Given the description of an element on the screen output the (x, y) to click on. 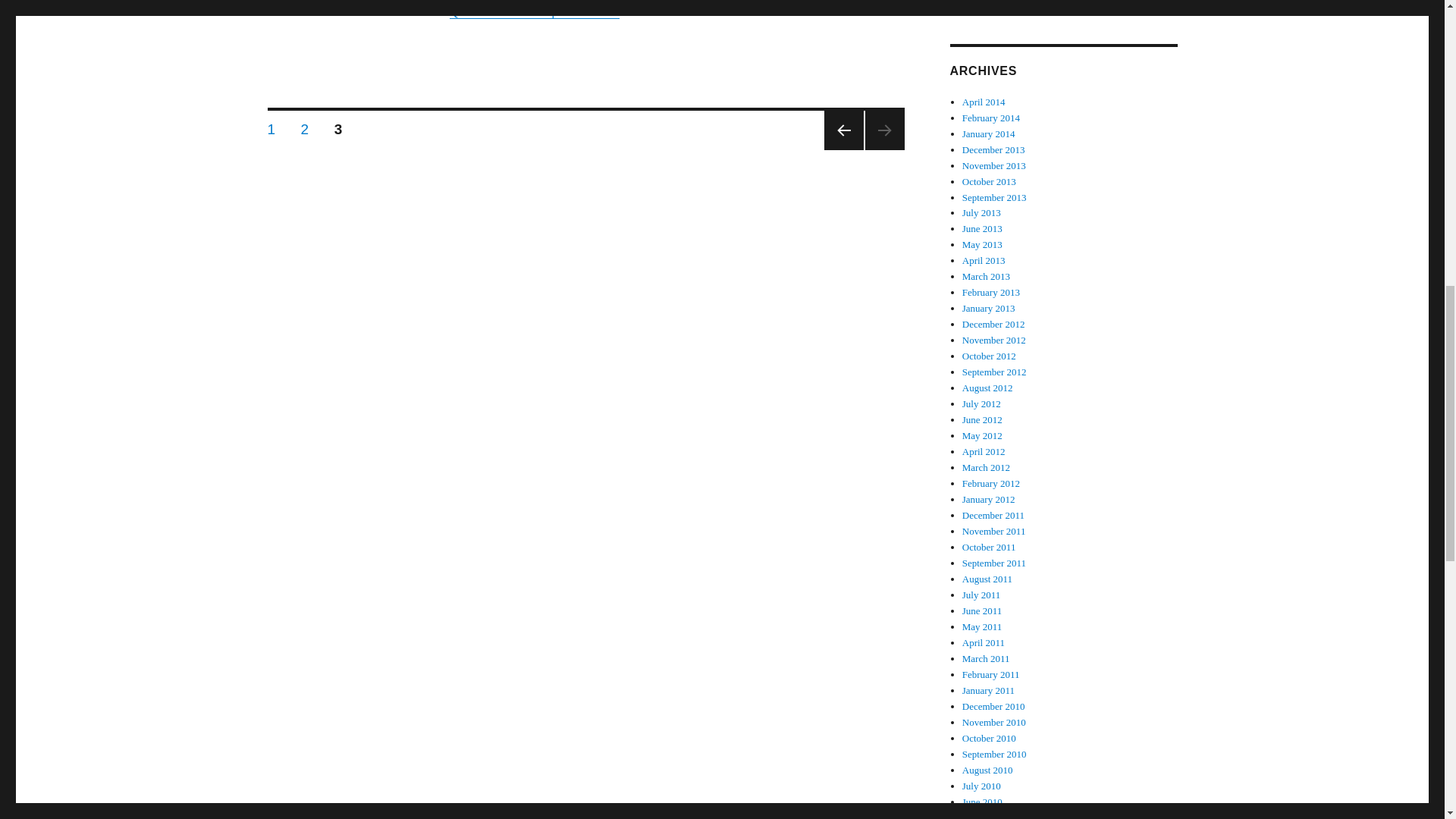
PREVIOUS PAGE (843, 129)
December 2013 (993, 149)
Questions 5 and 6 Paper A answers (534, 11)
November 2013 (994, 165)
September 2013 (994, 196)
July 2013 (981, 212)
January 2014 (271, 126)
February 2014 (988, 133)
October 2013 (991, 117)
April 2014 (989, 181)
June 2013 (984, 101)
